Given the description of an element on the screen output the (x, y) to click on. 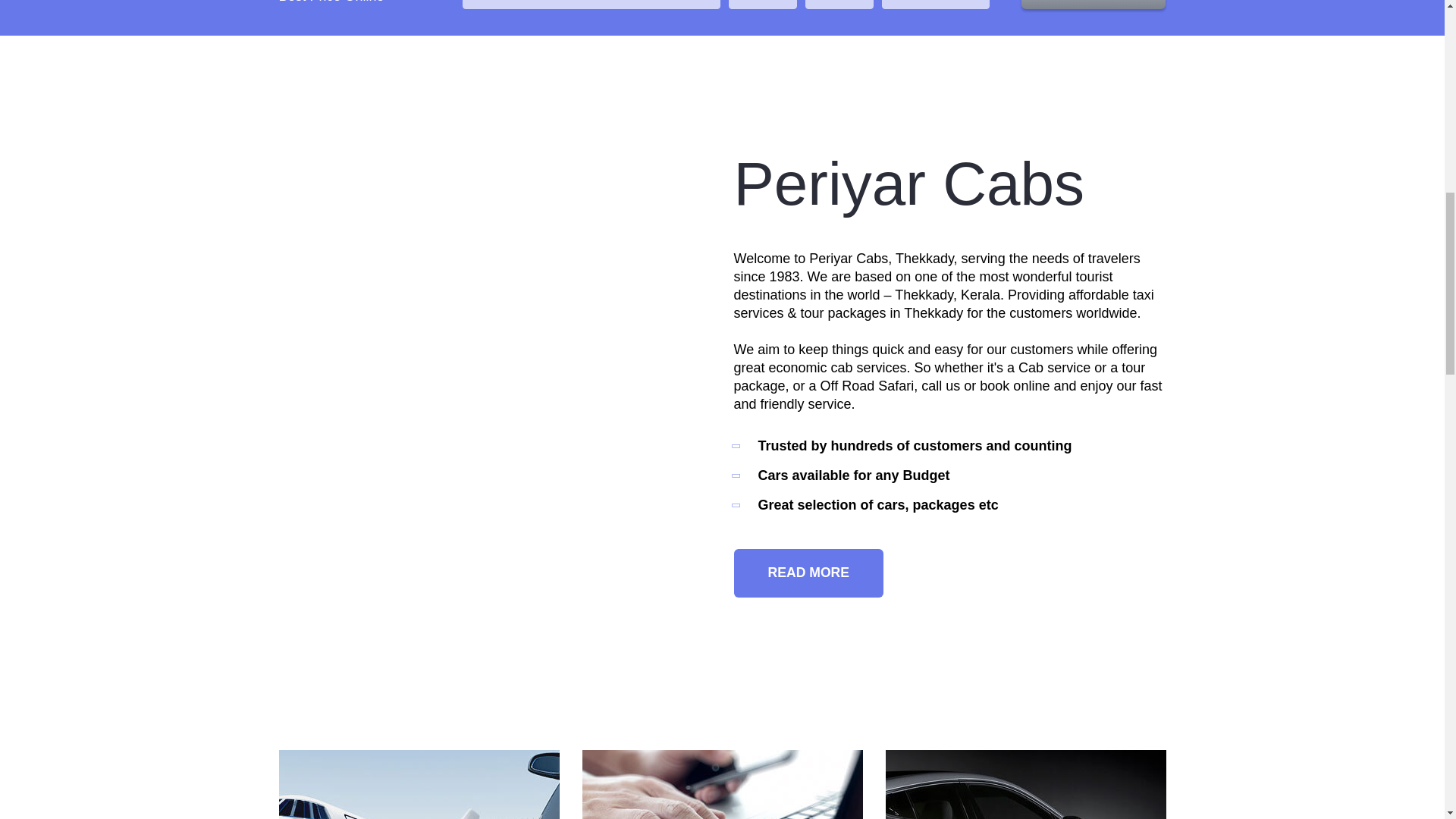
BOOK NOW (1094, 4)
BOOK NOW (1094, 4)
READ MORE (808, 572)
